Given the description of an element on the screen output the (x, y) to click on. 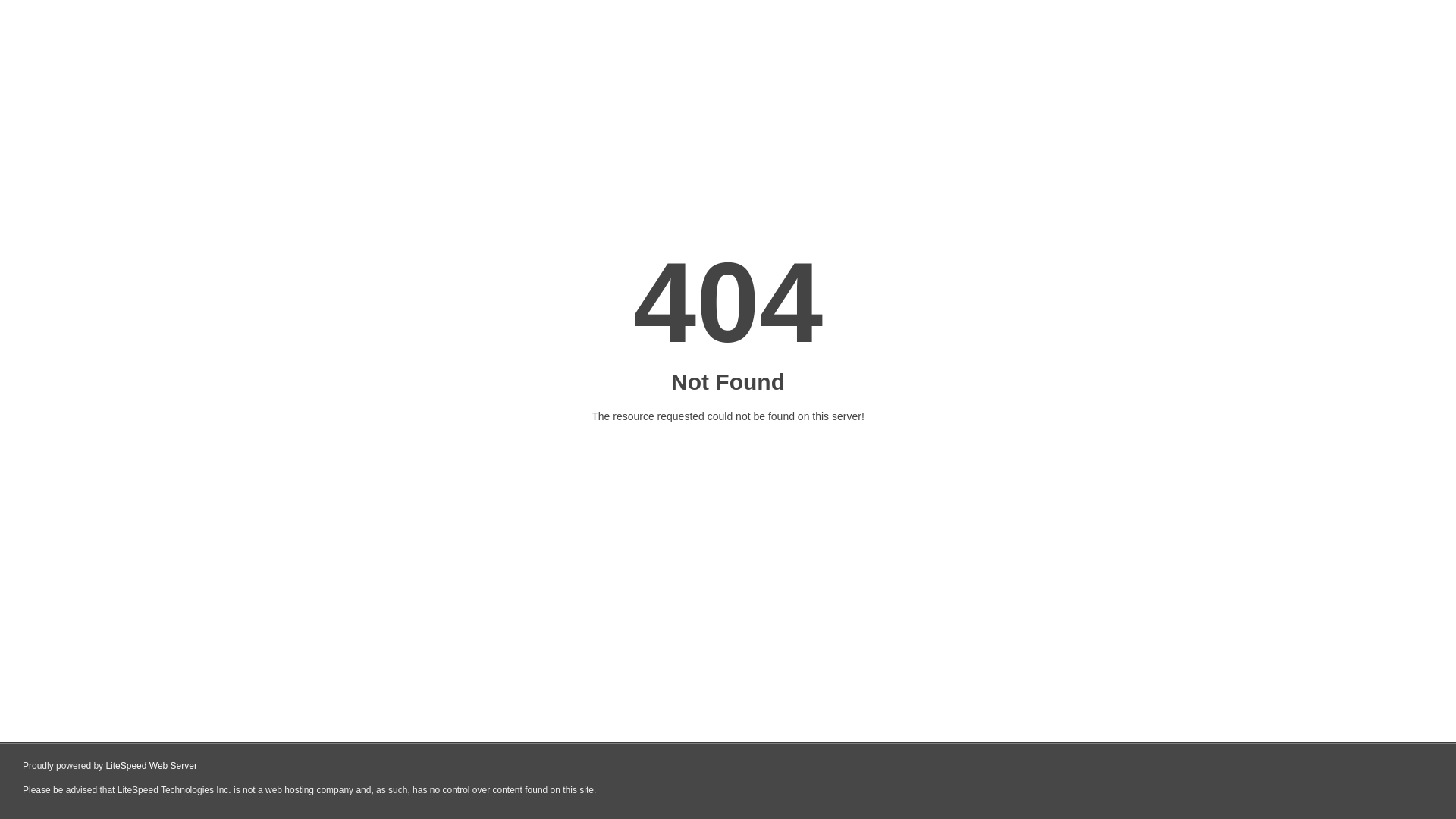
LiteSpeed Web Server Element type: text (151, 765)
